Given the description of an element on the screen output the (x, y) to click on. 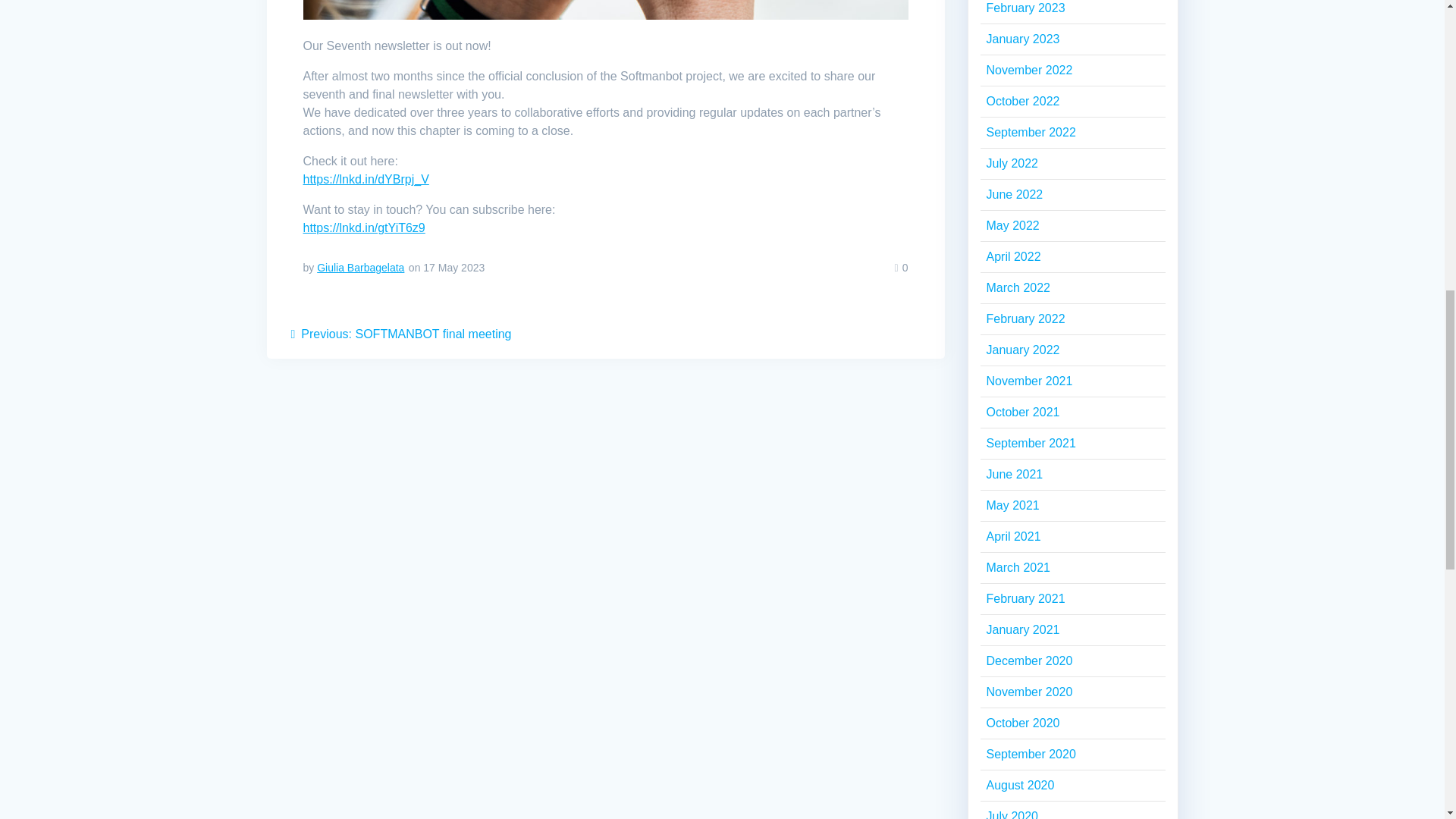
September 2021 (1030, 442)
May 2022 (1012, 225)
Posts by Giulia Barbagelata (360, 267)
January 2022 (1022, 349)
October 2021 (1022, 411)
January 2023 (1022, 38)
September 2022 (401, 333)
May 2021 (1030, 132)
July 2022 (1012, 504)
